Given the description of an element on the screen output the (x, y) to click on. 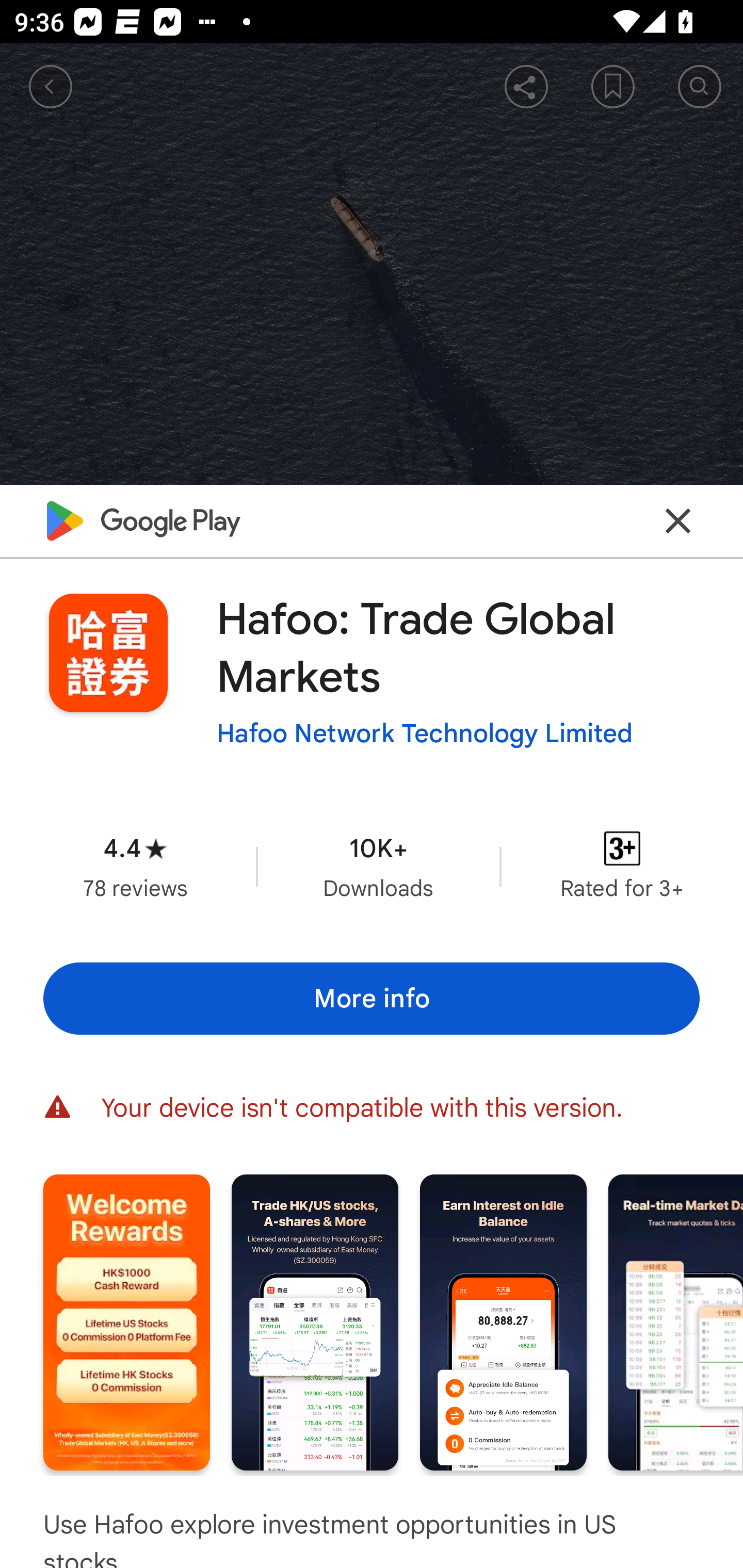
Close (677, 520)
Hafoo Network Technology Limited (424, 732)
More info (371, 998)
Screenshot "1" of "8" (126, 1322)
Screenshot "2" of "8" (314, 1322)
Screenshot "3" of "8" (502, 1322)
Screenshot "4" of "8" (675, 1322)
